Given the description of an element on the screen output the (x, y) to click on. 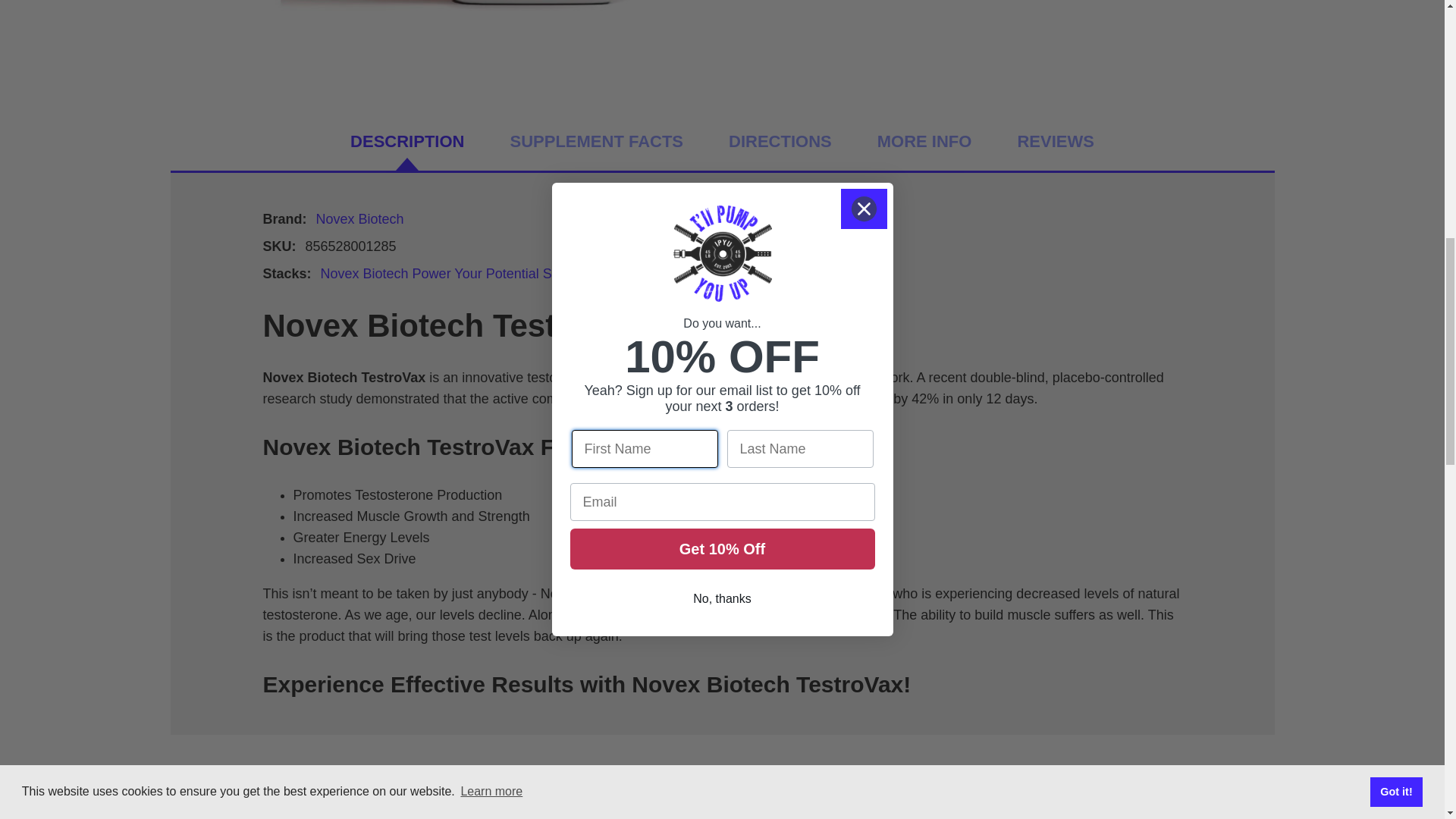
novex-biotech-testrovax (432, 29)
